Given the description of an element on the screen output the (x, y) to click on. 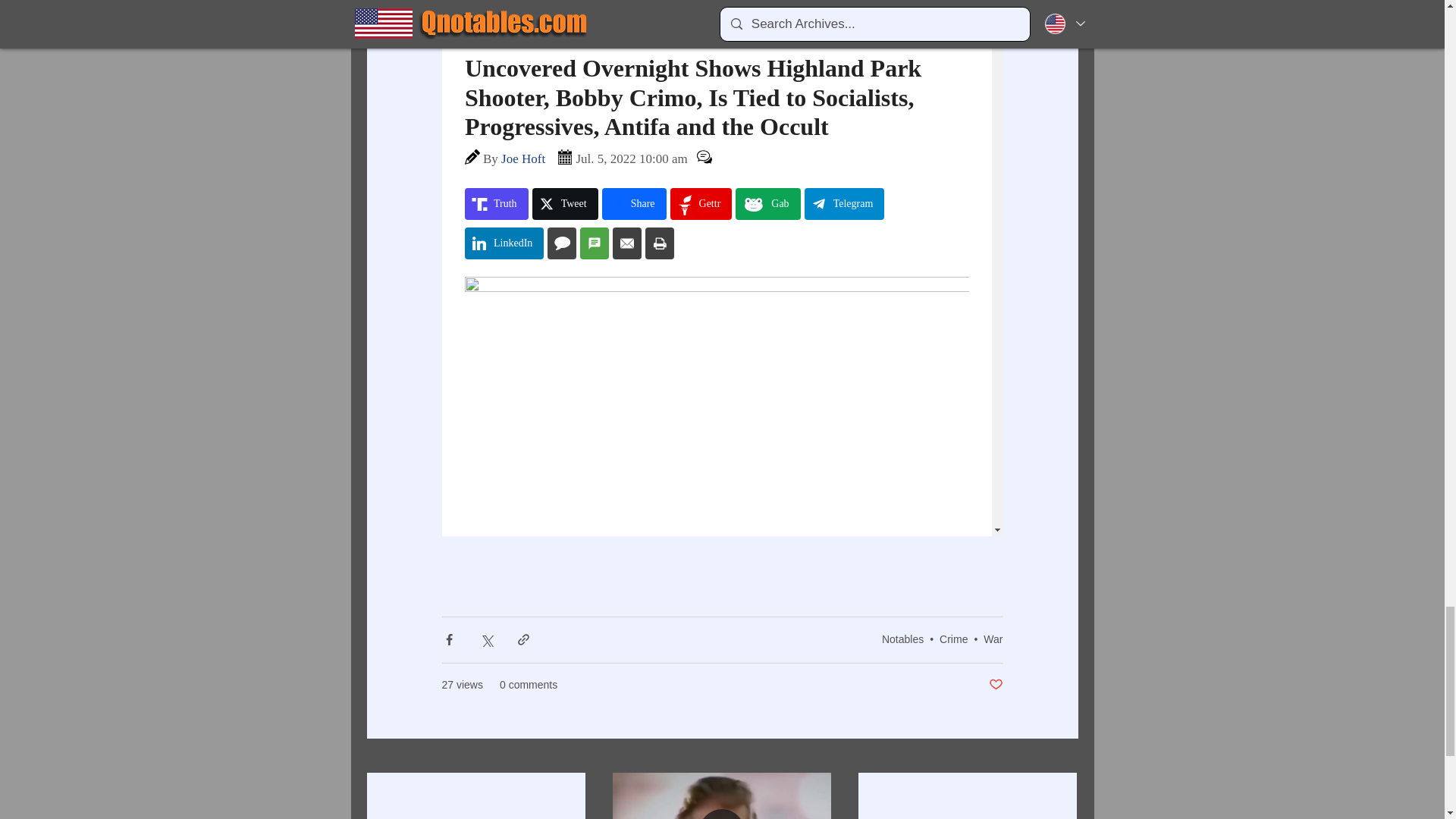
Notables (902, 639)
Crime (953, 639)
War (993, 639)
Post not marked as liked (995, 684)
